Given the description of an element on the screen output the (x, y) to click on. 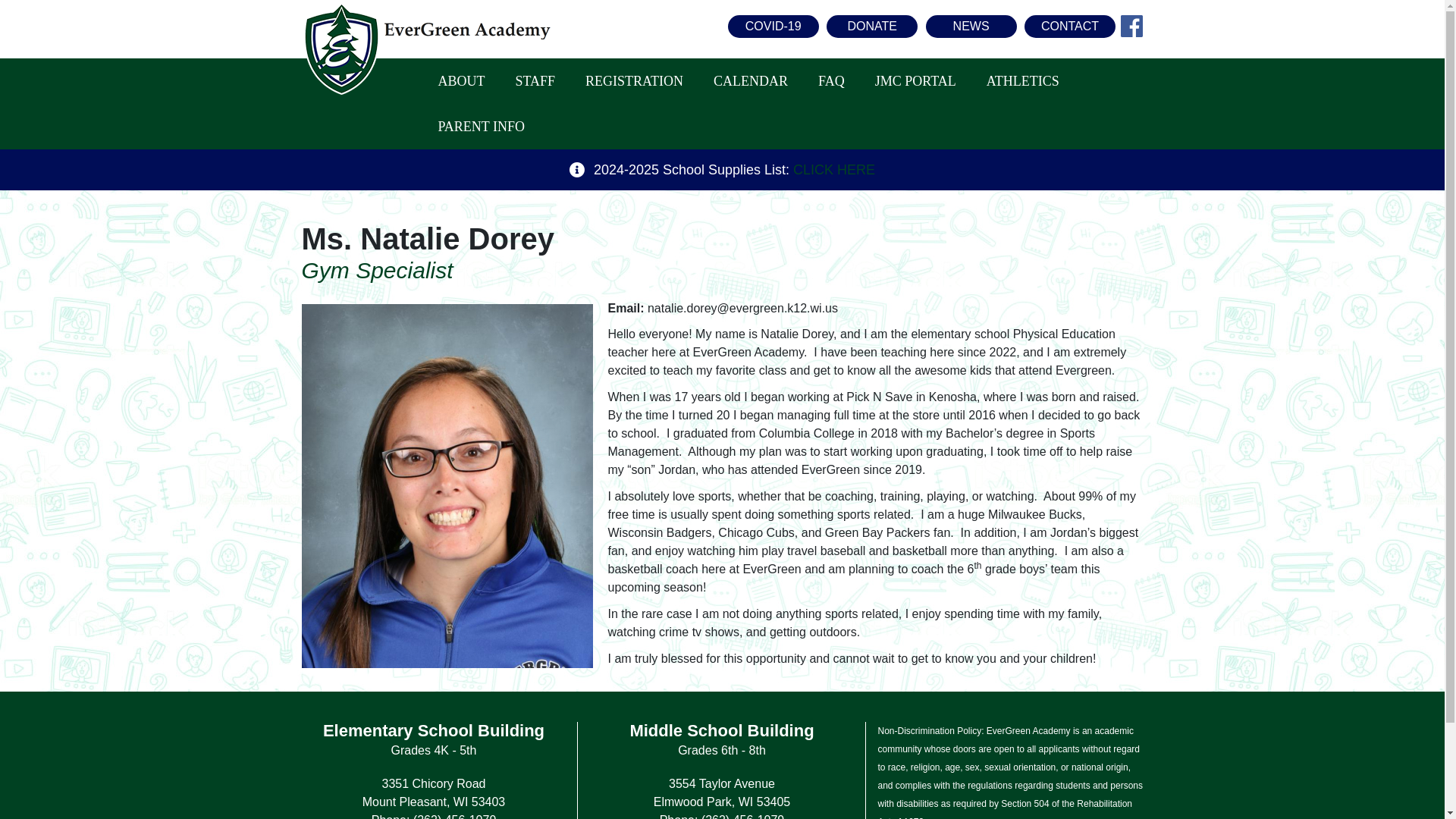
CLICK HERE (834, 169)
COVID-19 (773, 26)
NEWS (971, 26)
JMC PORTAL (915, 81)
CALENDAR (750, 81)
DONATE (872, 26)
ATHLETICS (1023, 81)
School Supplies List (834, 169)
Skip to main content (721, 1)
CONTACT (1070, 26)
